Given the description of an element on the screen output the (x, y) to click on. 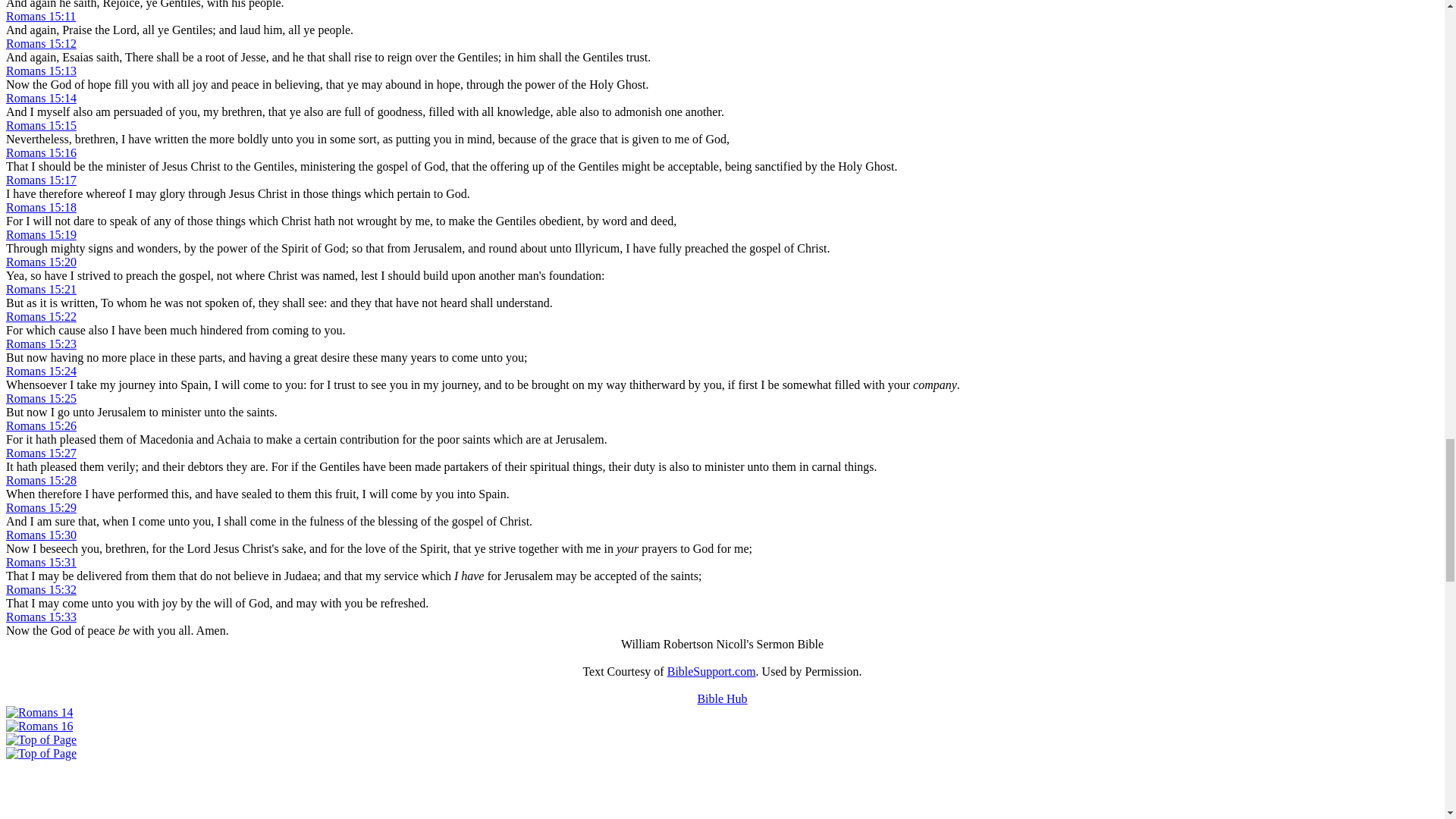
Romans 15:14 (41, 97)
Romans 15:15 (41, 124)
Romans 15:16 (41, 152)
Romans 14 (38, 712)
Romans 15:11 (40, 15)
Top of Page (41, 739)
Romans 15:13 (41, 70)
Romans 15:12 (41, 42)
Romans 15:20 (41, 261)
Romans 15:17 (41, 179)
